Given the description of an element on the screen output the (x, y) to click on. 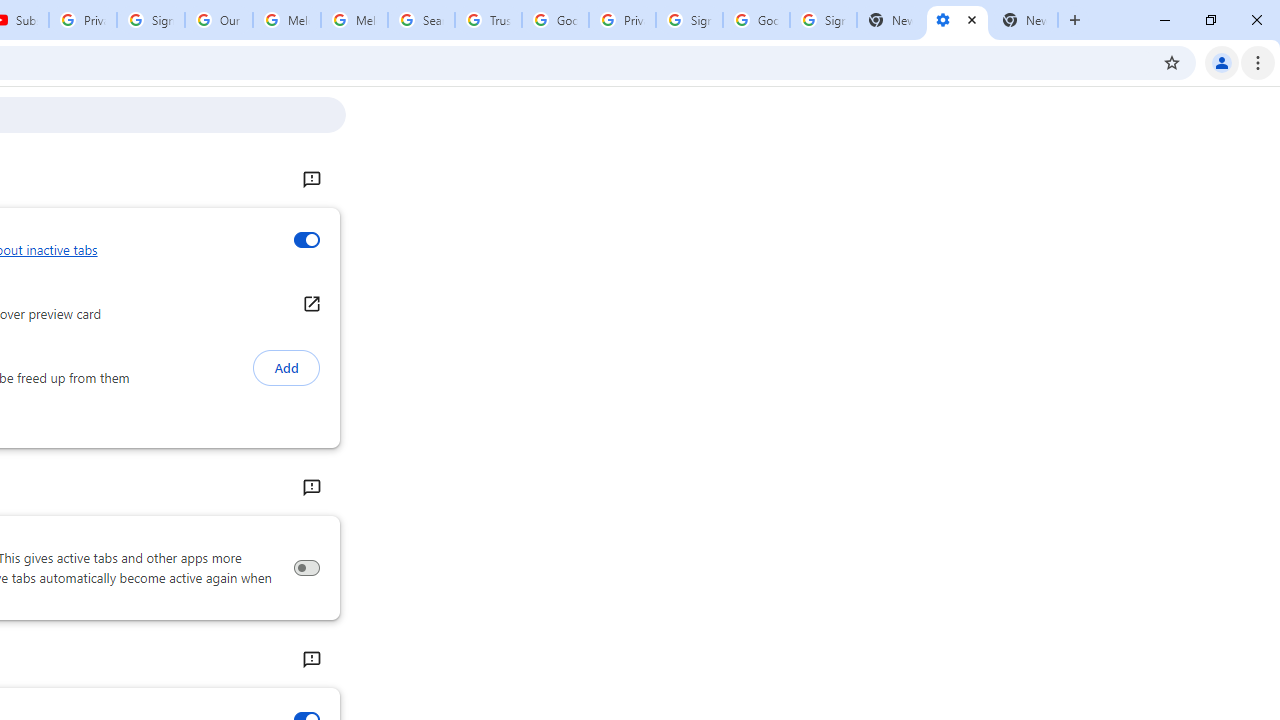
Memory Saver (306, 568)
Google Ads - Sign in (555, 20)
Settings - Performance (957, 20)
Inactive tabs appearance (306, 240)
General (310, 179)
Trusted Information and Content - Google Safety Center (488, 20)
Sign in - Google Accounts (823, 20)
